Given the description of an element on the screen output the (x, y) to click on. 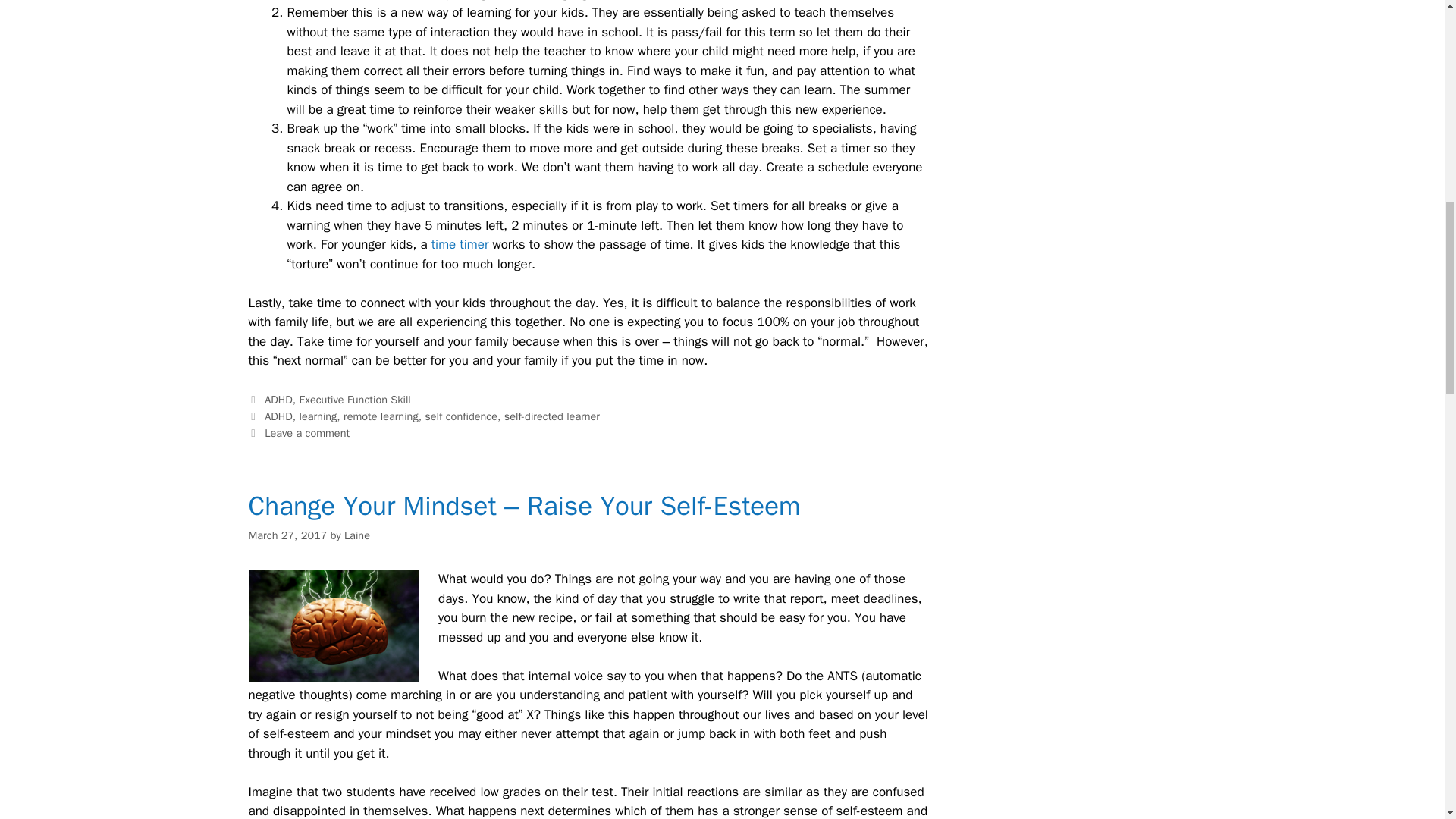
self confidence (461, 416)
Leave a comment (306, 432)
remote learning (381, 416)
Scroll back to top (1406, 720)
View all posts by Laine (356, 535)
time timer (459, 244)
ADHD (278, 416)
self-directed learner (551, 416)
ADHD (278, 399)
Executive Function Skill (354, 399)
learning (317, 416)
